Given the description of an element on the screen output the (x, y) to click on. 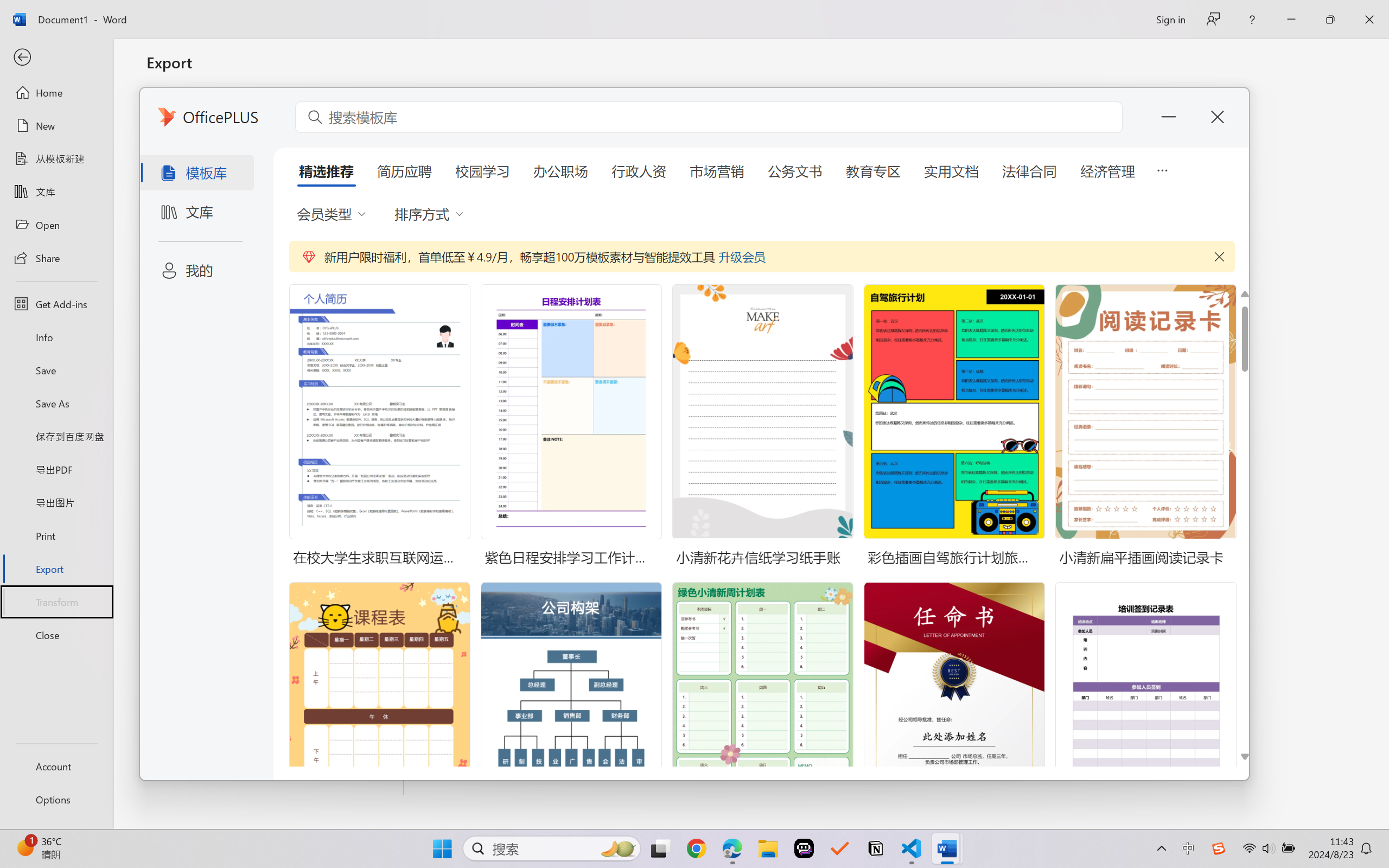
Publishing Features (275, 449)
